Given the description of an element on the screen output the (x, y) to click on. 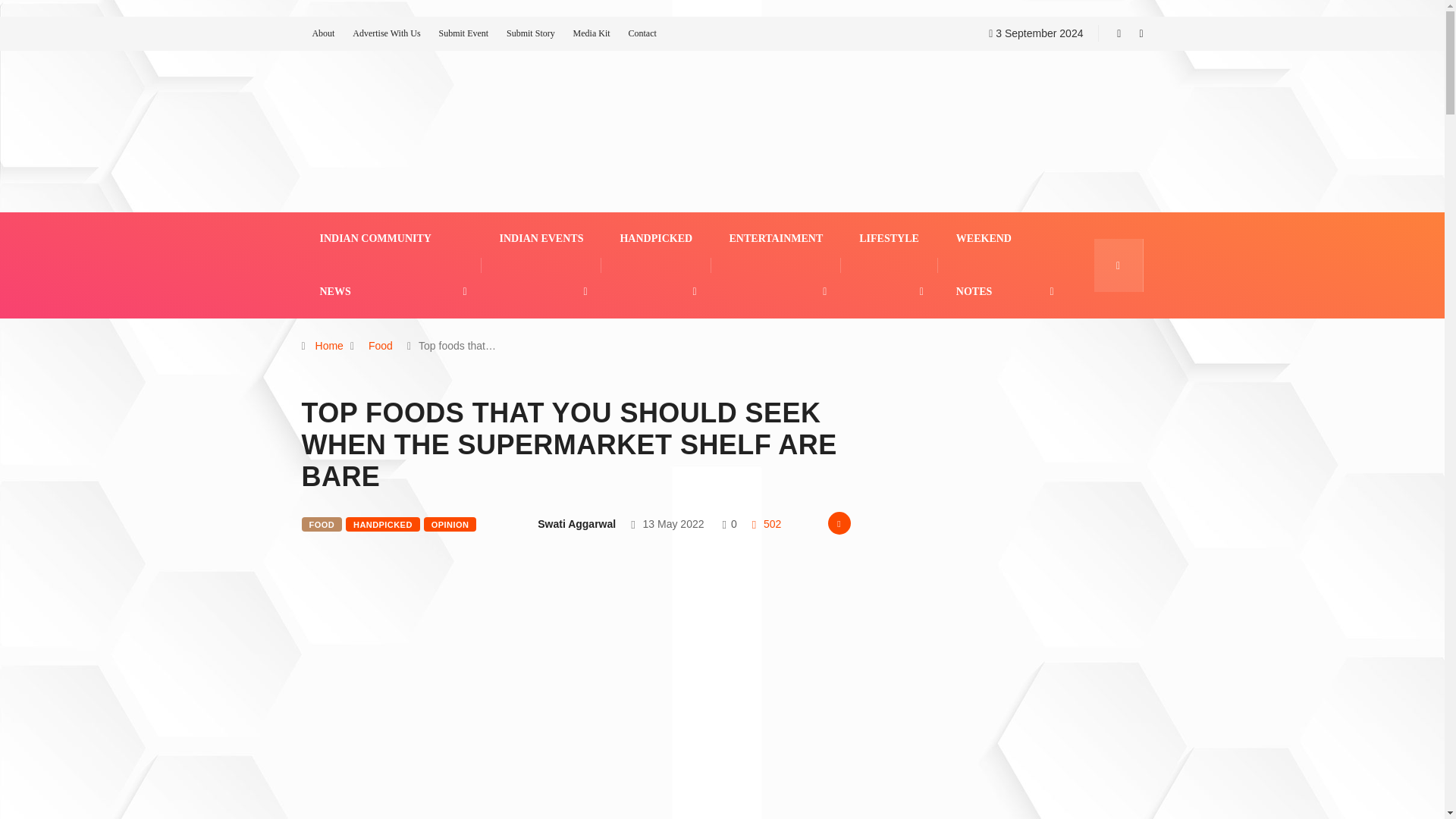
ENTERTAINMENT (776, 238)
Advertise With Us (386, 32)
Contact (641, 32)
Submit Event (462, 32)
Media Kit (591, 32)
INDIAN COMMUNITY NEWS (391, 265)
Submit Story (530, 32)
HANDPICKED (656, 238)
INDIAN EVENTS (541, 238)
About (322, 32)
